Given the description of an element on the screen output the (x, y) to click on. 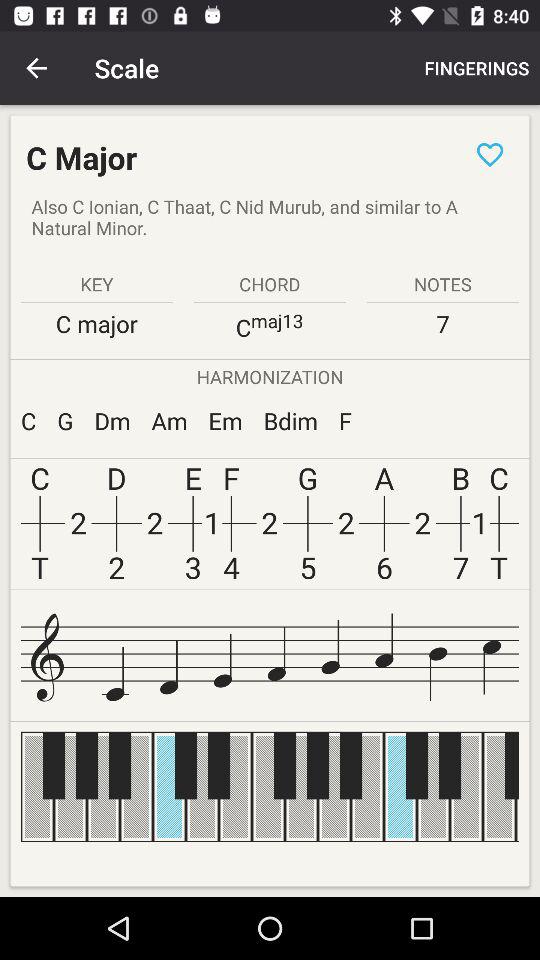
save to favorites (490, 154)
